Given the description of an element on the screen output the (x, y) to click on. 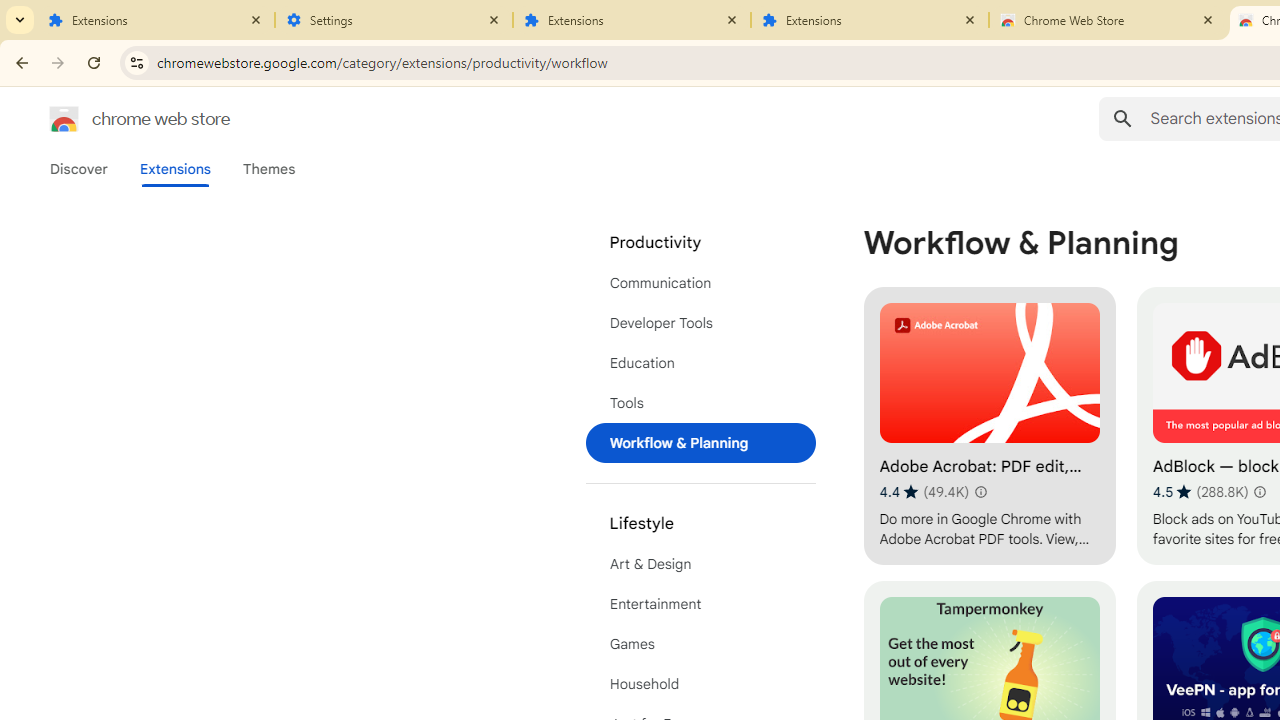
Communication (700, 282)
Household (700, 683)
